Given the description of an element on the screen output the (x, y) to click on. 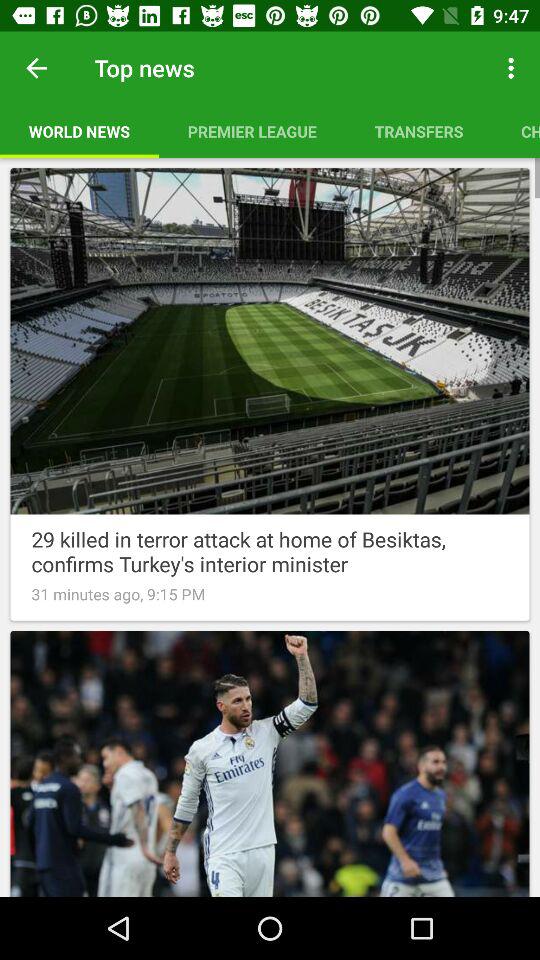
tap the item next to the premier league (513, 67)
